Given the description of an element on the screen output the (x, y) to click on. 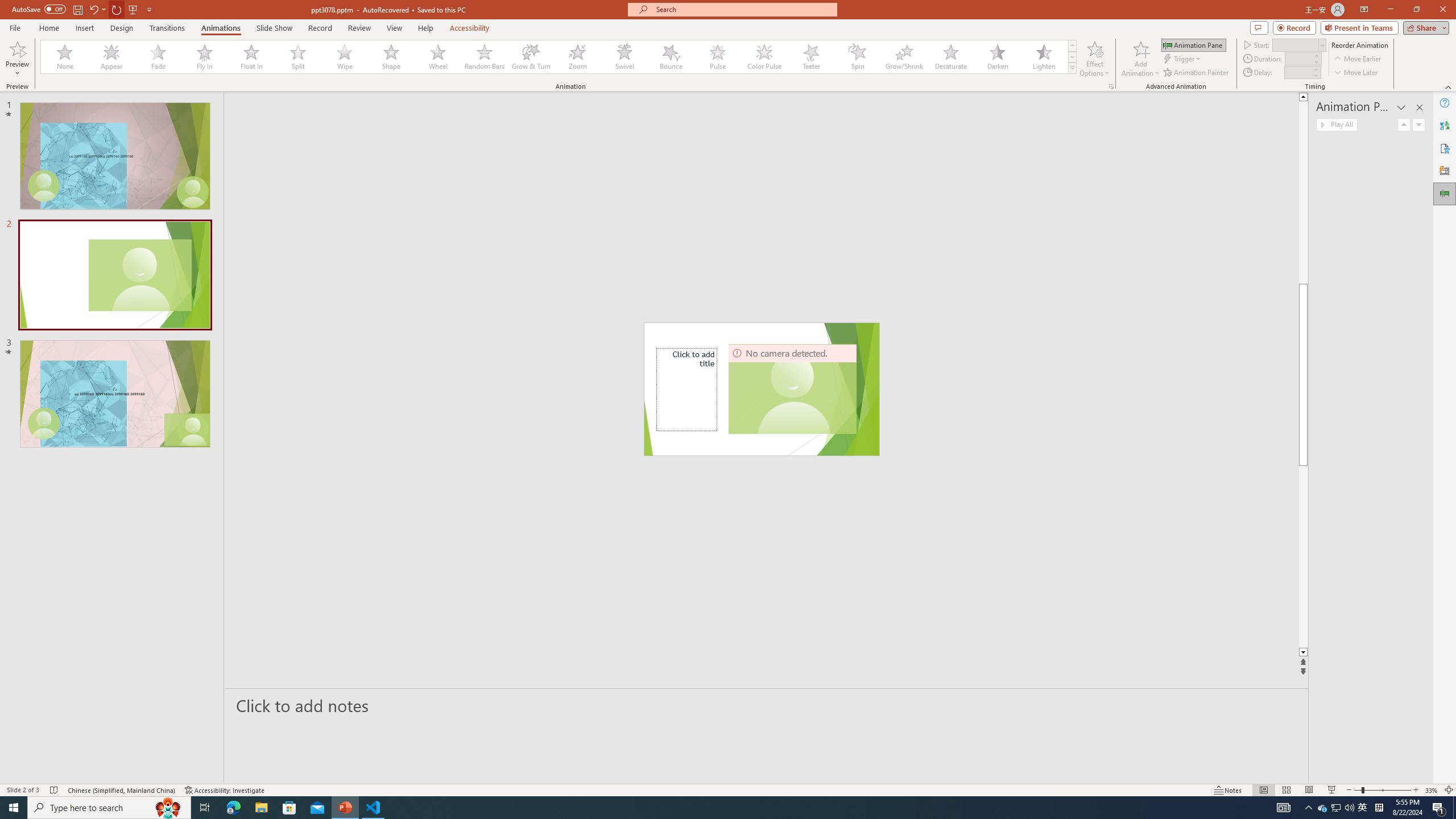
Pulse (717, 56)
Move Up (1403, 124)
Move Later (1355, 72)
Color Pulse (764, 56)
More Options... (1110, 85)
